Given the description of an element on the screen output the (x, y) to click on. 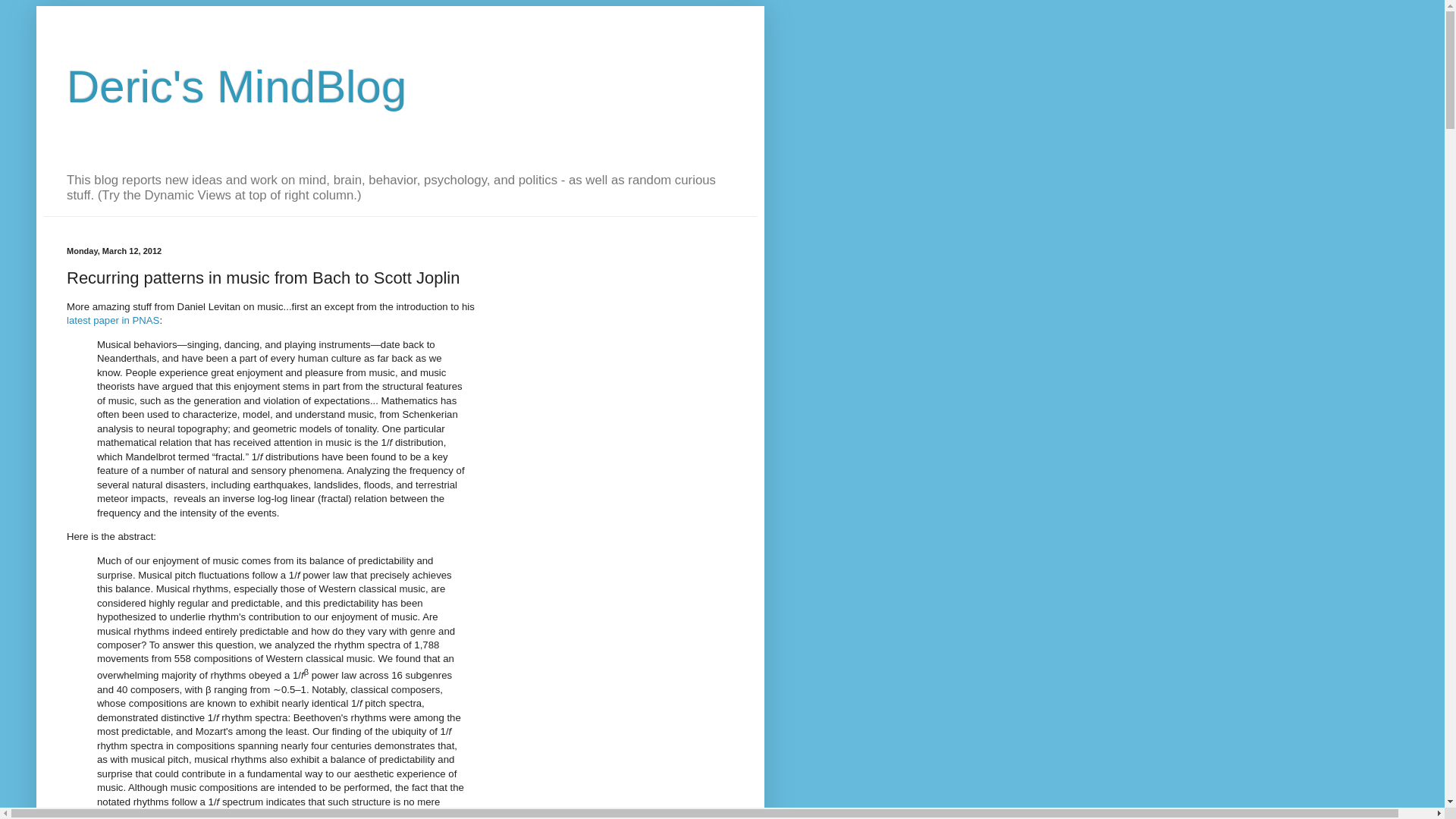
latest paper in PNAS (112, 319)
Deric's MindBlog (236, 86)
